Given the description of an element on the screen output the (x, y) to click on. 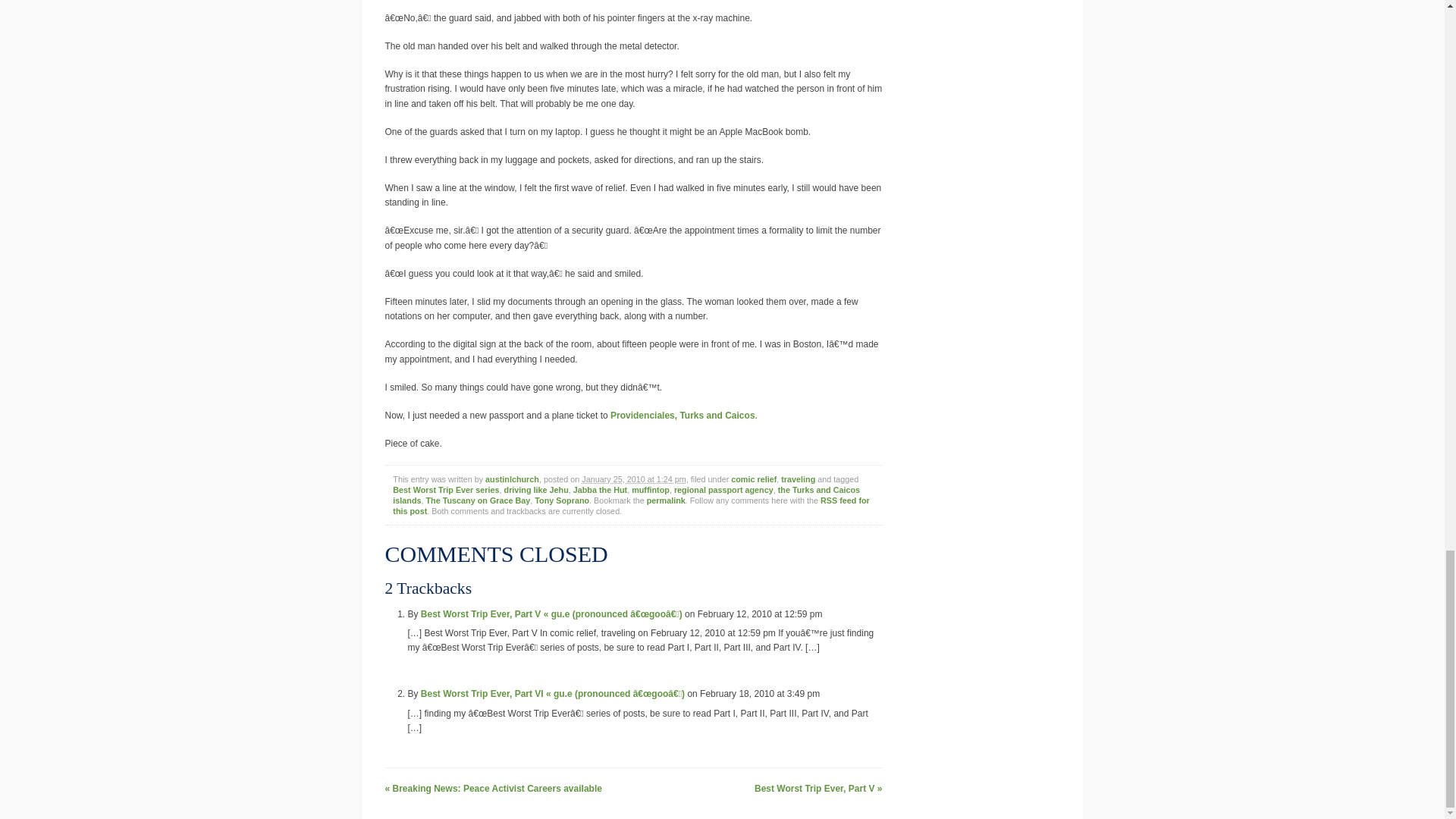
the Turks and Caicos islands (626, 495)
Providenciales, Turks and Caicos (682, 415)
traveling (797, 479)
muffintop (650, 489)
austinlchurch (511, 479)
permalink (665, 500)
RSS feed for this post (631, 505)
Best Worst Trip Ever series (446, 489)
driving like Jehu (536, 489)
2010-01-25T13:24:21-0500 (632, 479)
